Given the description of an element on the screen output the (x, y) to click on. 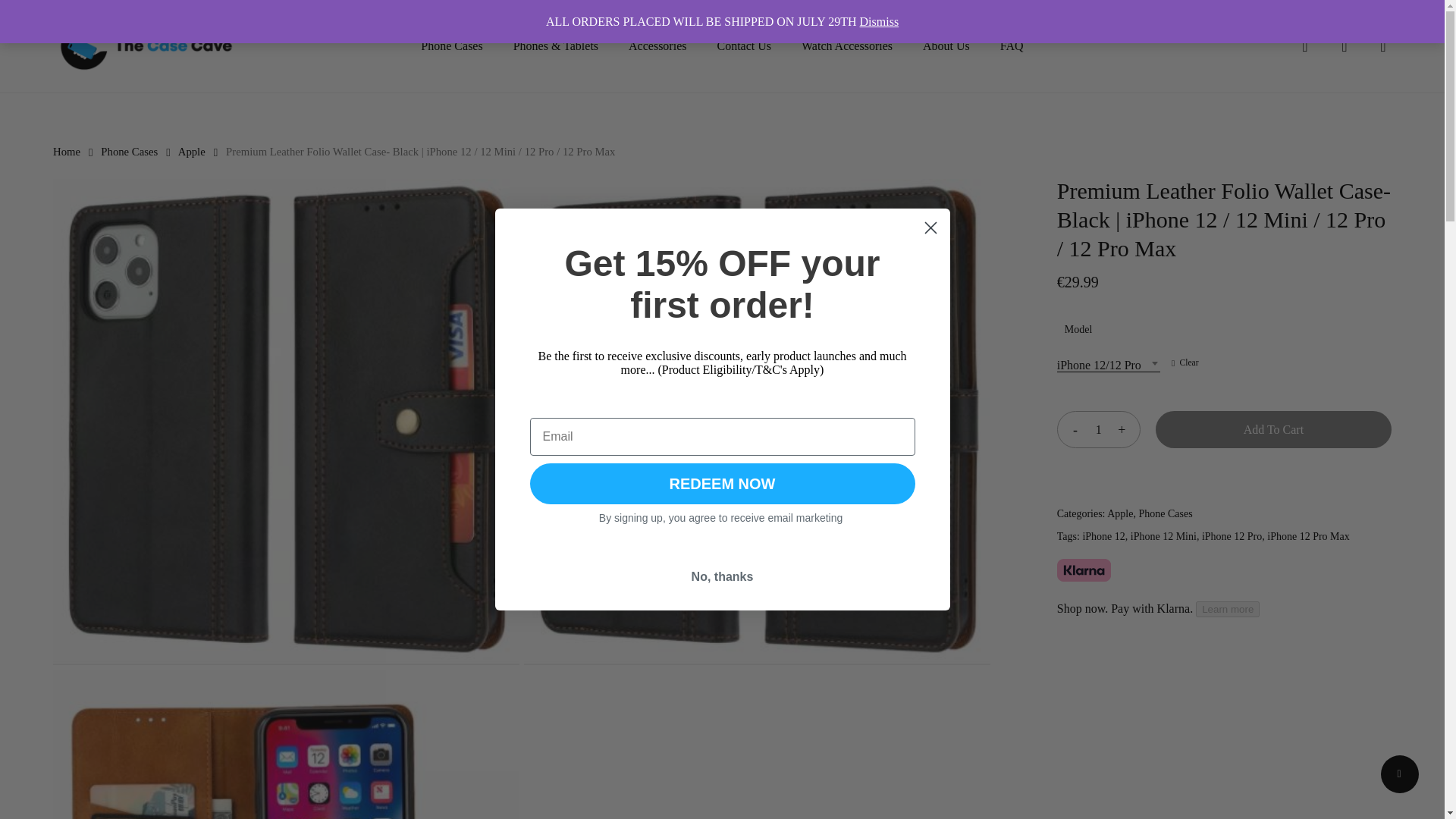
PayPal (1224, 489)
Close dialog 1 (930, 227)
Phone Cases (450, 46)
Customer reviews powered by Trustpilot (721, 131)
1 (1098, 429)
- (1071, 429)
